Given the description of an element on the screen output the (x, y) to click on. 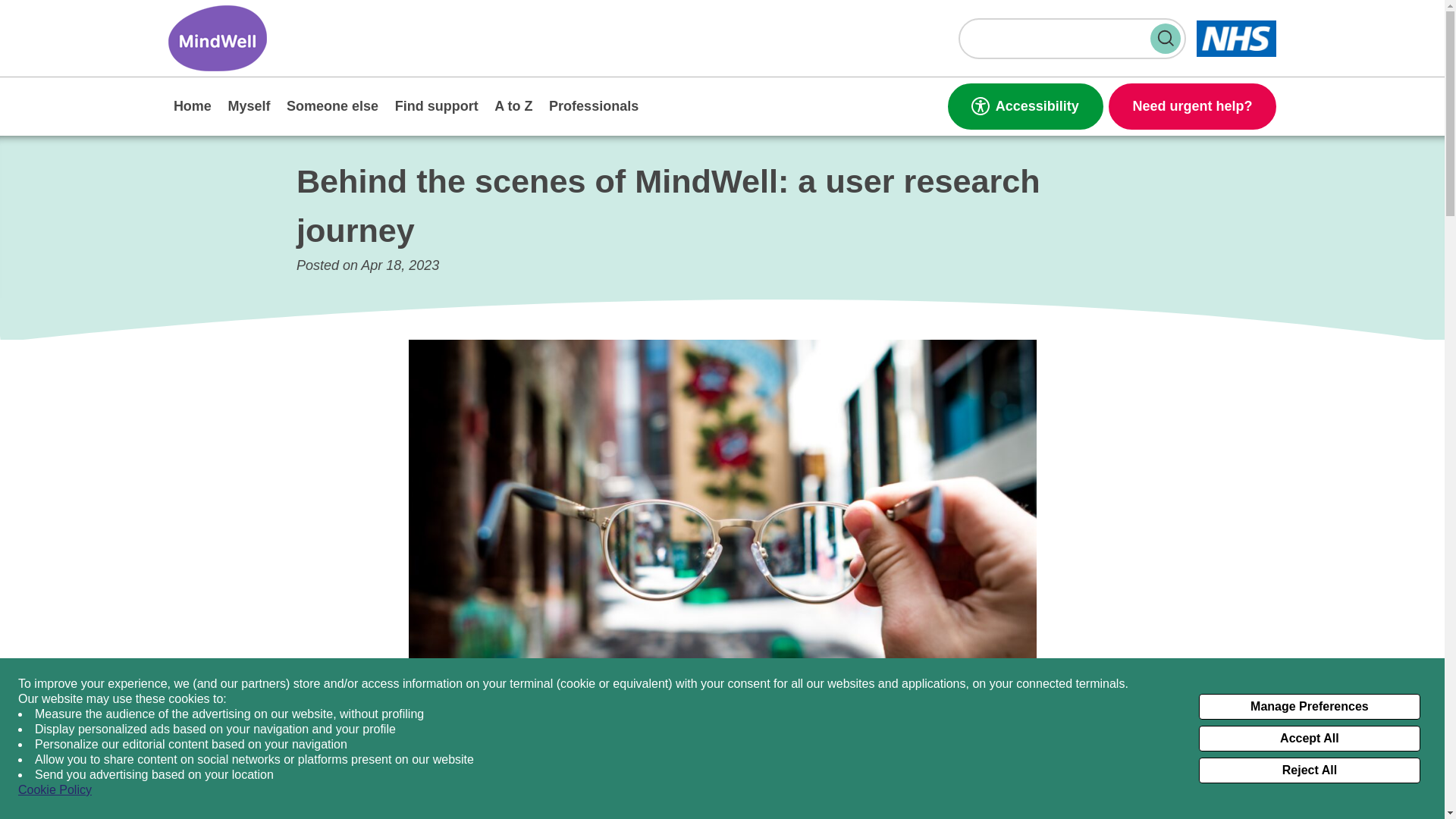
Submit (1165, 38)
Accept All (1309, 738)
Site Feedback (80, 803)
Reject All (1309, 769)
Josh Calabrese (762, 771)
Someone else (332, 106)
MindWell home (217, 37)
co-design (896, 801)
Myself (248, 106)
Accessibility (1025, 106)
